Given the description of an element on the screen output the (x, y) to click on. 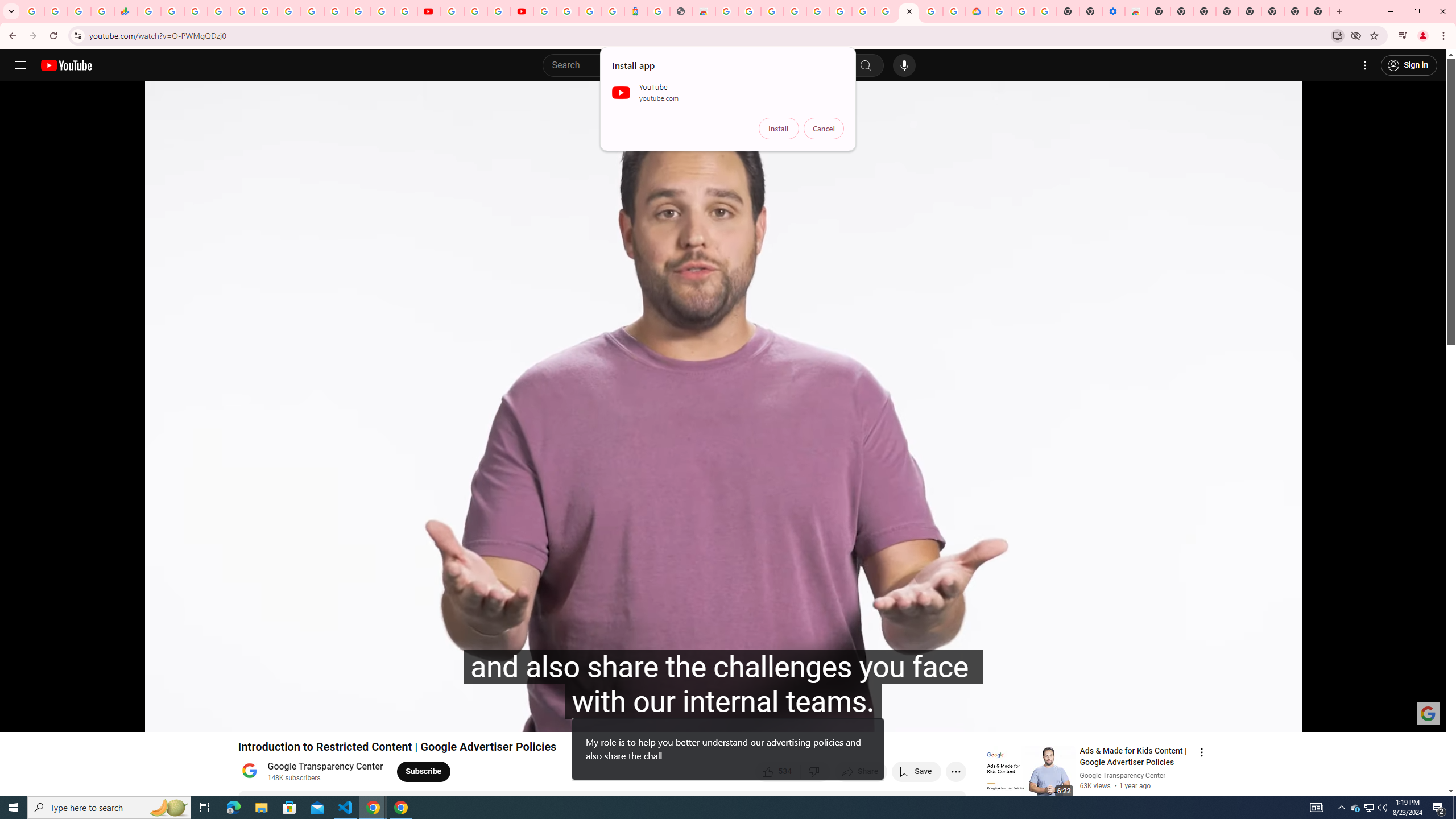
Sign in - Google Accounts (218, 11)
Share (861, 771)
Create your Google Account (749, 11)
Cancel (823, 128)
Google Account Help (863, 11)
Create your Google Account (498, 11)
like this video along with 534 other people (777, 771)
Sign in - Google Accounts (999, 11)
YouTube Home (66, 65)
Save to playlist (915, 771)
Android TV Policies and Guidelines - Transparency Center (288, 11)
YouTube (312, 11)
